Given the description of an element on the screen output the (x, y) to click on. 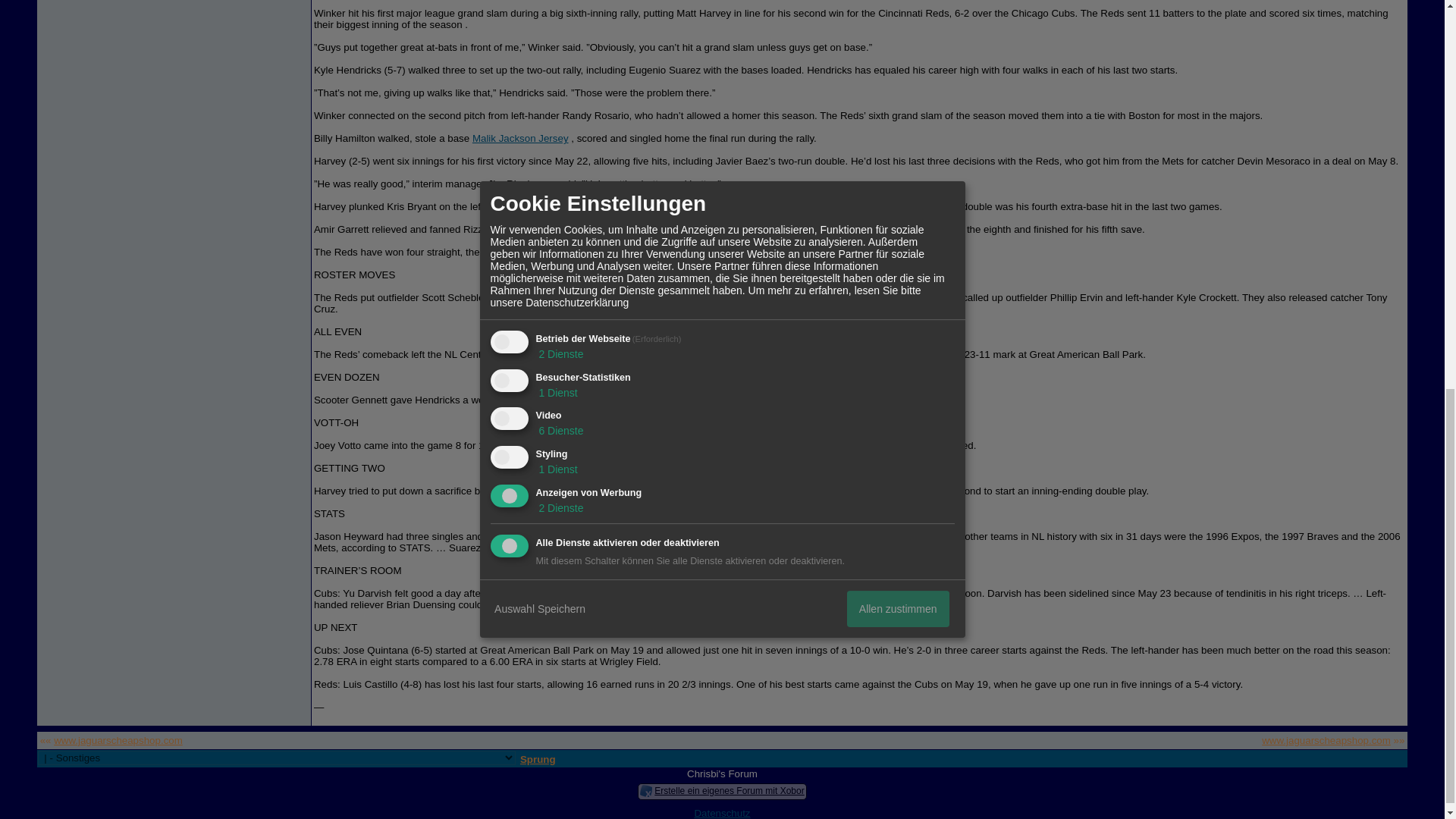
www.jaguarscheapshop.com (1326, 740)
Tashaun Gipson Jersey (596, 490)
Malik Jackson Jersey (520, 138)
Sprung (537, 758)
www.jaguarscheapshop.com (118, 740)
Erstelle ein eigenes Forum mit Xobor (728, 790)
